Given the description of an element on the screen output the (x, y) to click on. 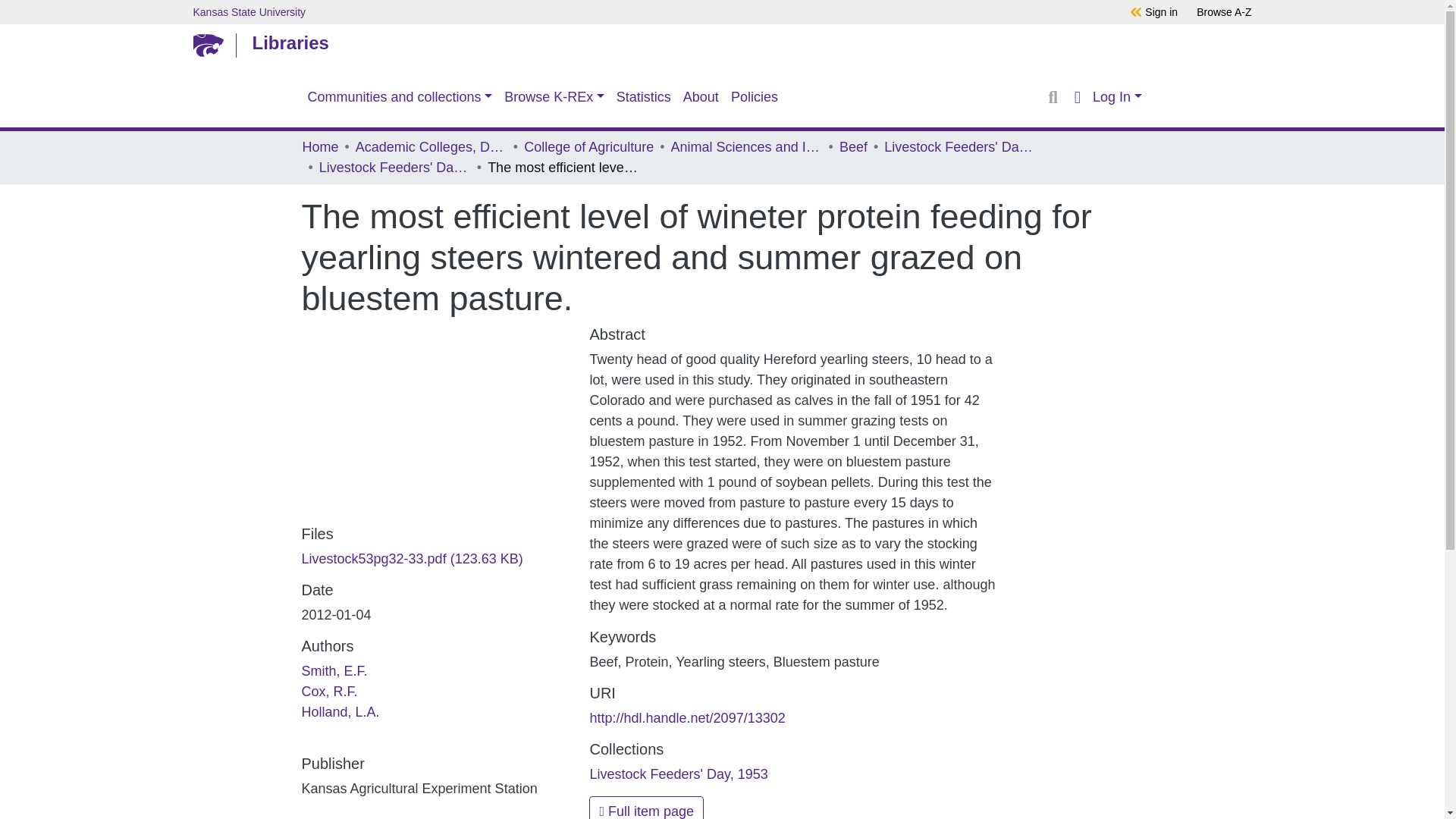
College of Agriculture (588, 147)
Home (319, 147)
Communities and collections (400, 97)
Livestock Feeders' Day, 1953 (394, 168)
About (701, 97)
Academic Colleges, Departments, and Programs (430, 147)
Browse K-REx (553, 97)
Policies (754, 97)
Beef (853, 147)
Kansas State University (625, 11)
Policies (754, 97)
Sign in (1160, 11)
Smith, E.F. (334, 670)
Statistics (643, 97)
About (701, 97)
